Given the description of an element on the screen output the (x, y) to click on. 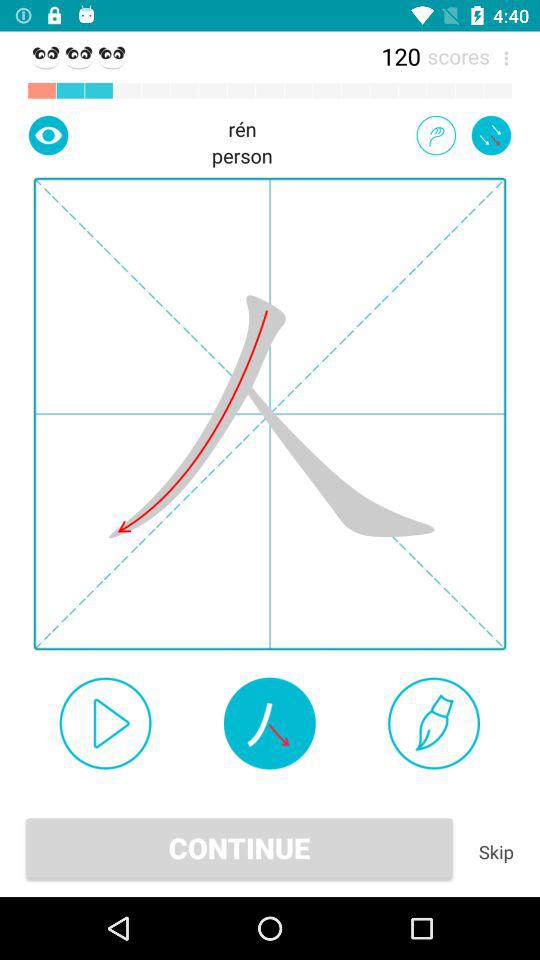
tap the item next to the person icon (436, 135)
